Given the description of an element on the screen output the (x, y) to click on. 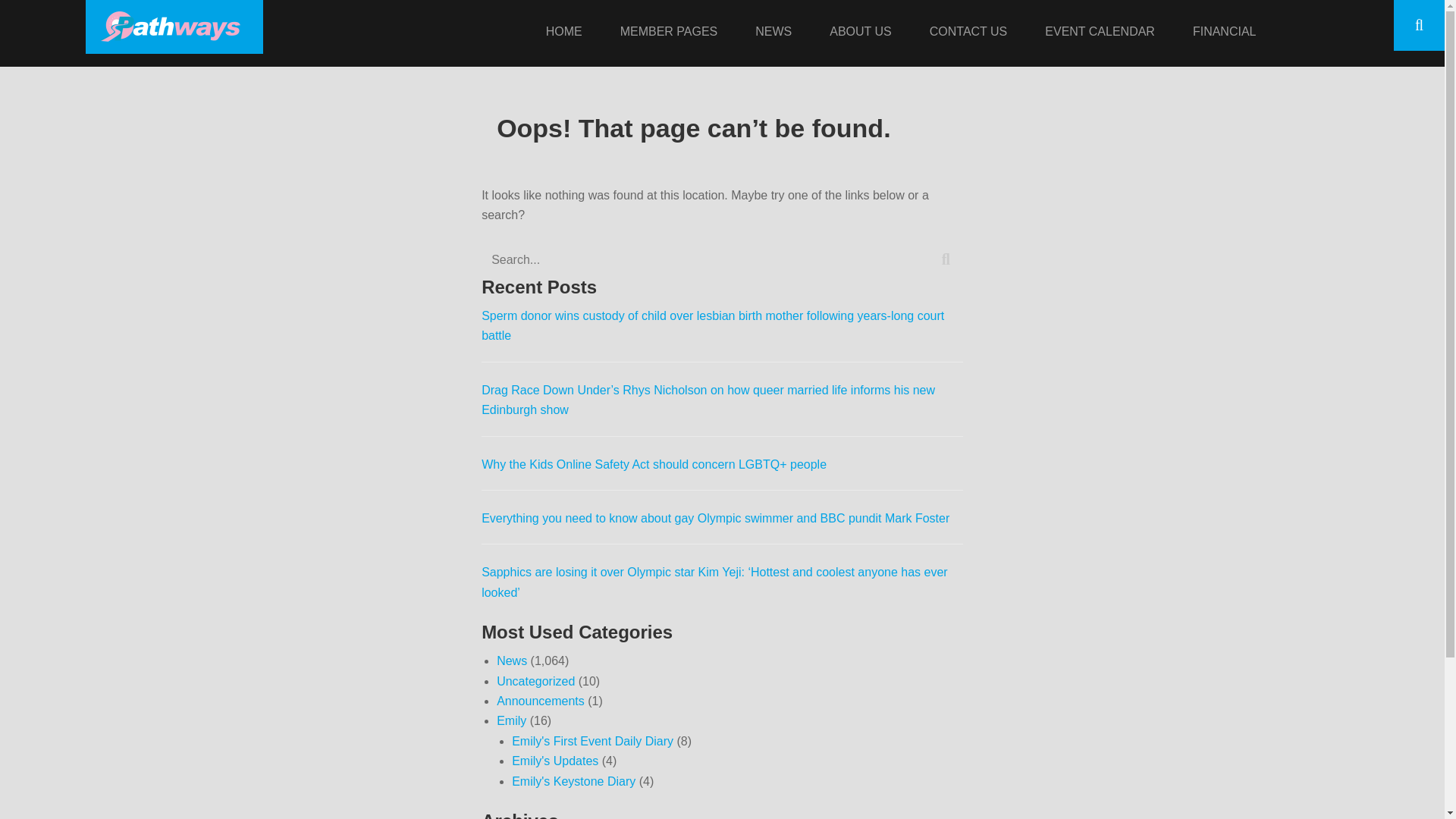
EVENT CALENDAR (1099, 33)
CONTACT US (968, 33)
Search for: (722, 259)
MEMBER PAGES (668, 33)
ABOUT US (860, 33)
PATHWAYS (304, 23)
FINANCIAL (1224, 33)
